Given the description of an element on the screen output the (x, y) to click on. 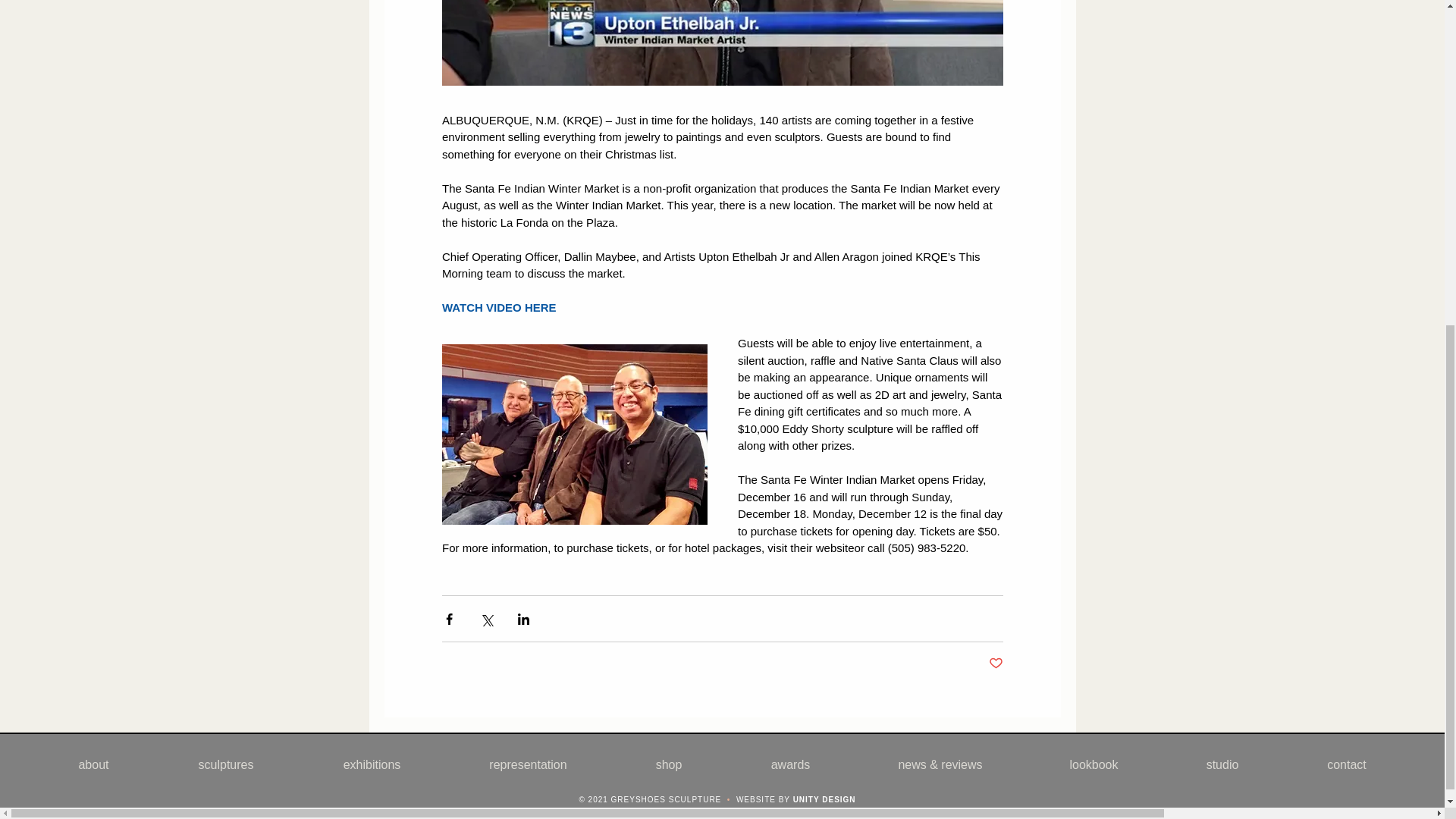
WATCH VIDEO HERE (498, 308)
studio (1221, 764)
representation (528, 764)
Post not marked as liked (995, 663)
lookbook (1093, 764)
shop (668, 764)
about (92, 764)
awards (790, 764)
UNITY DESIGN (824, 799)
exhibitions (371, 764)
